Given the description of an element on the screen output the (x, y) to click on. 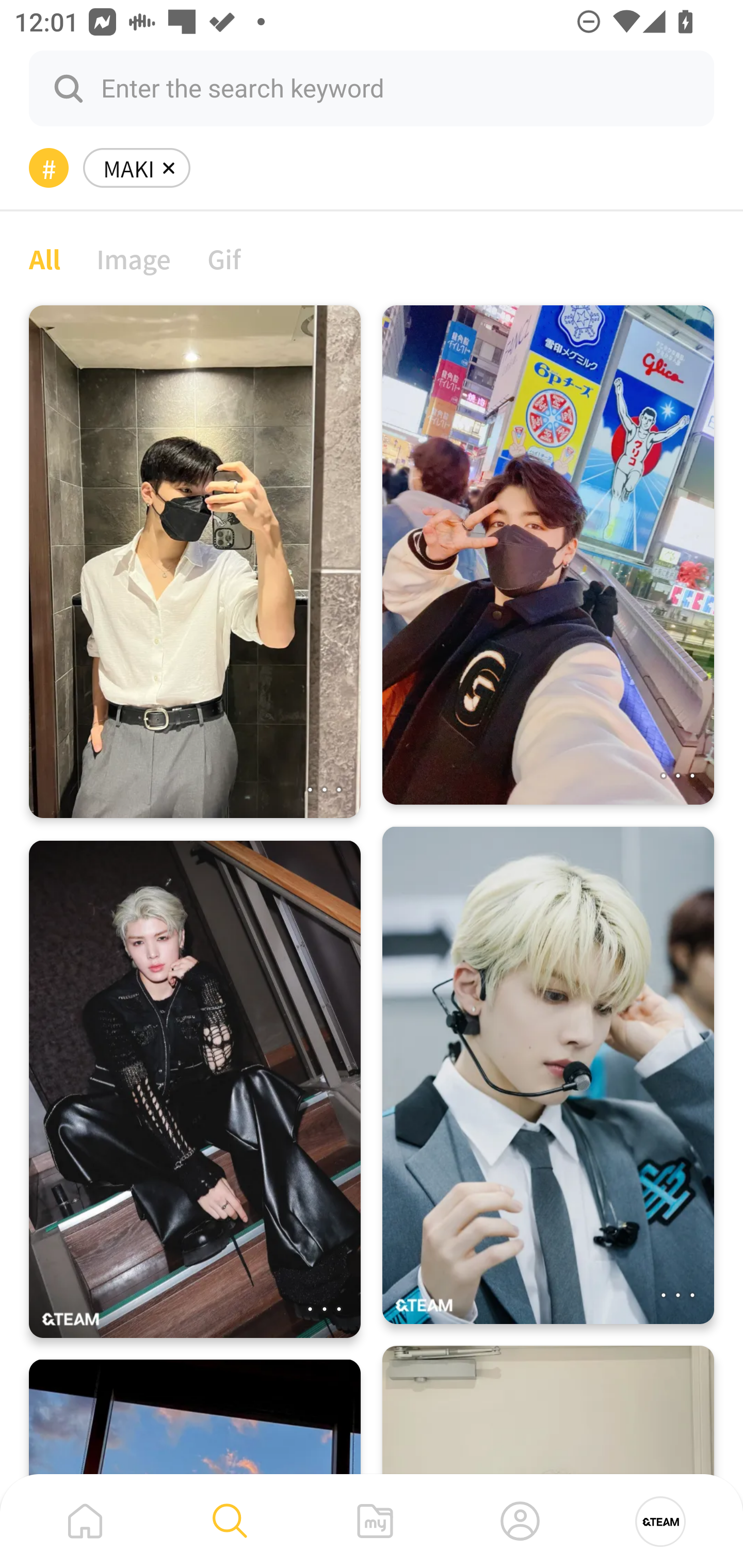
All (44, 257)
Image (133, 257)
Gif (223, 257)
